Given the description of an element on the screen output the (x, y) to click on. 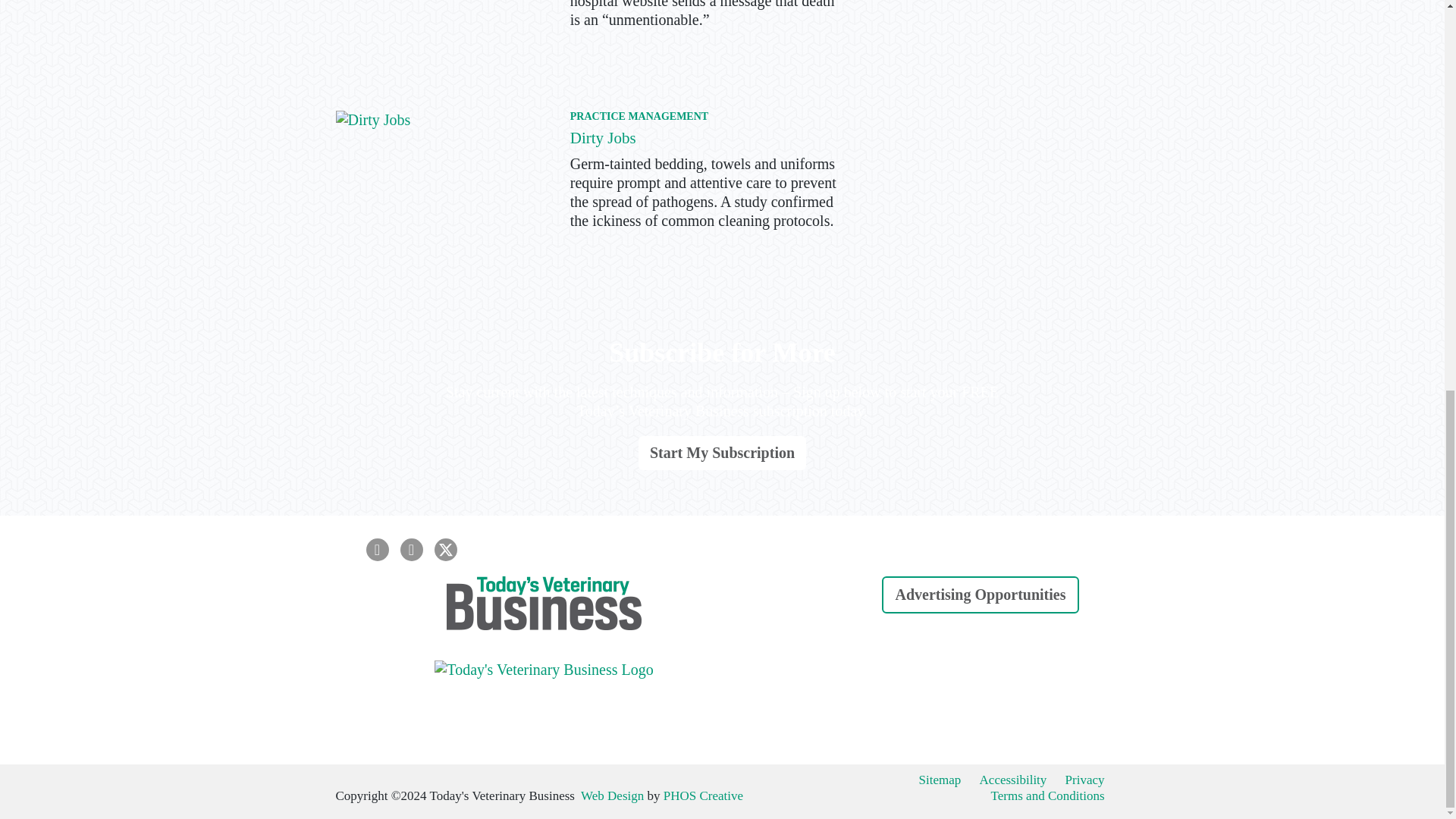
LinkedIn (411, 549)
Facebook (376, 549)
Twitter (445, 549)
